Given the description of an element on the screen output the (x, y) to click on. 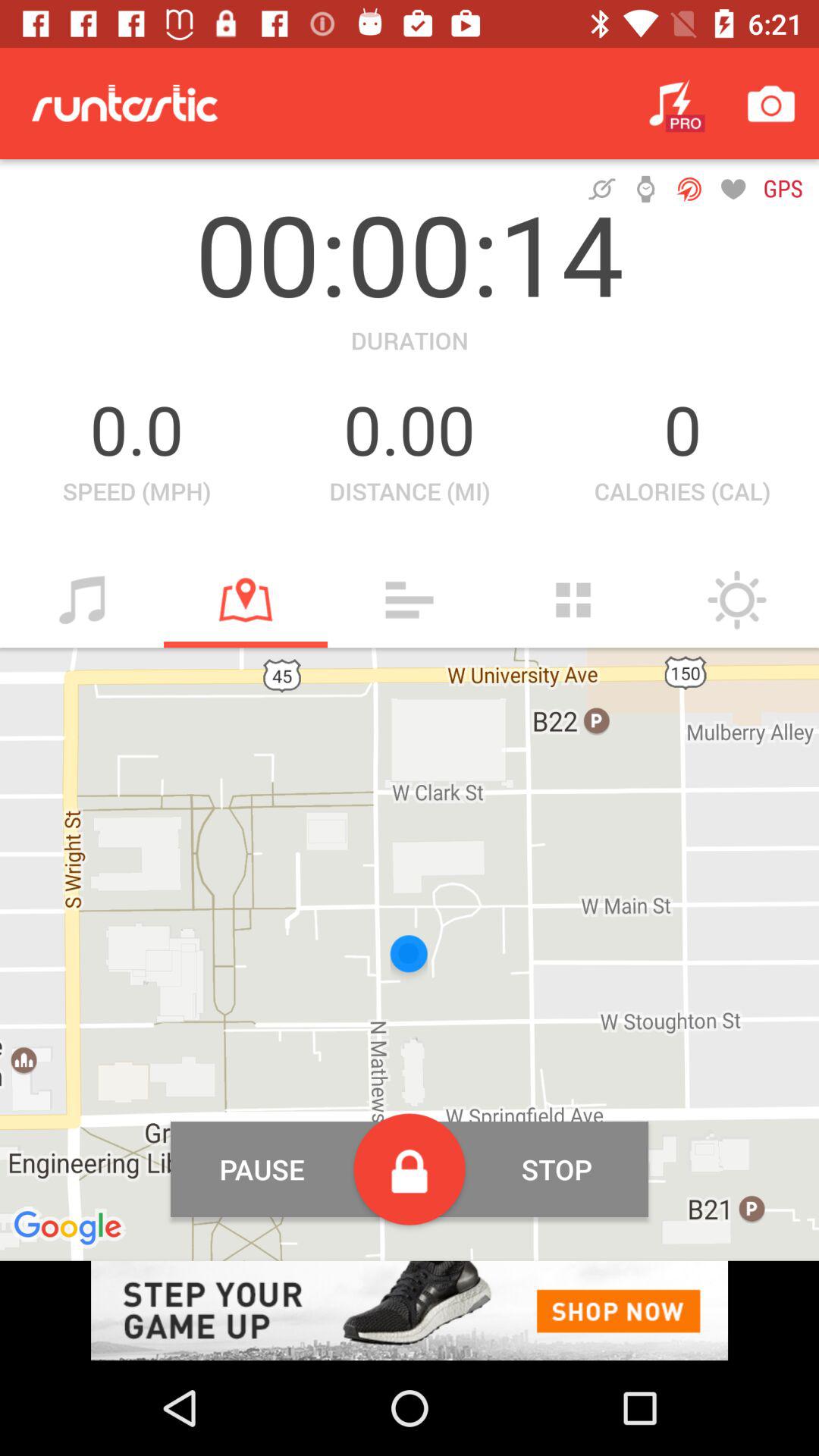
sol (737, 599)
